Given the description of an element on the screen output the (x, y) to click on. 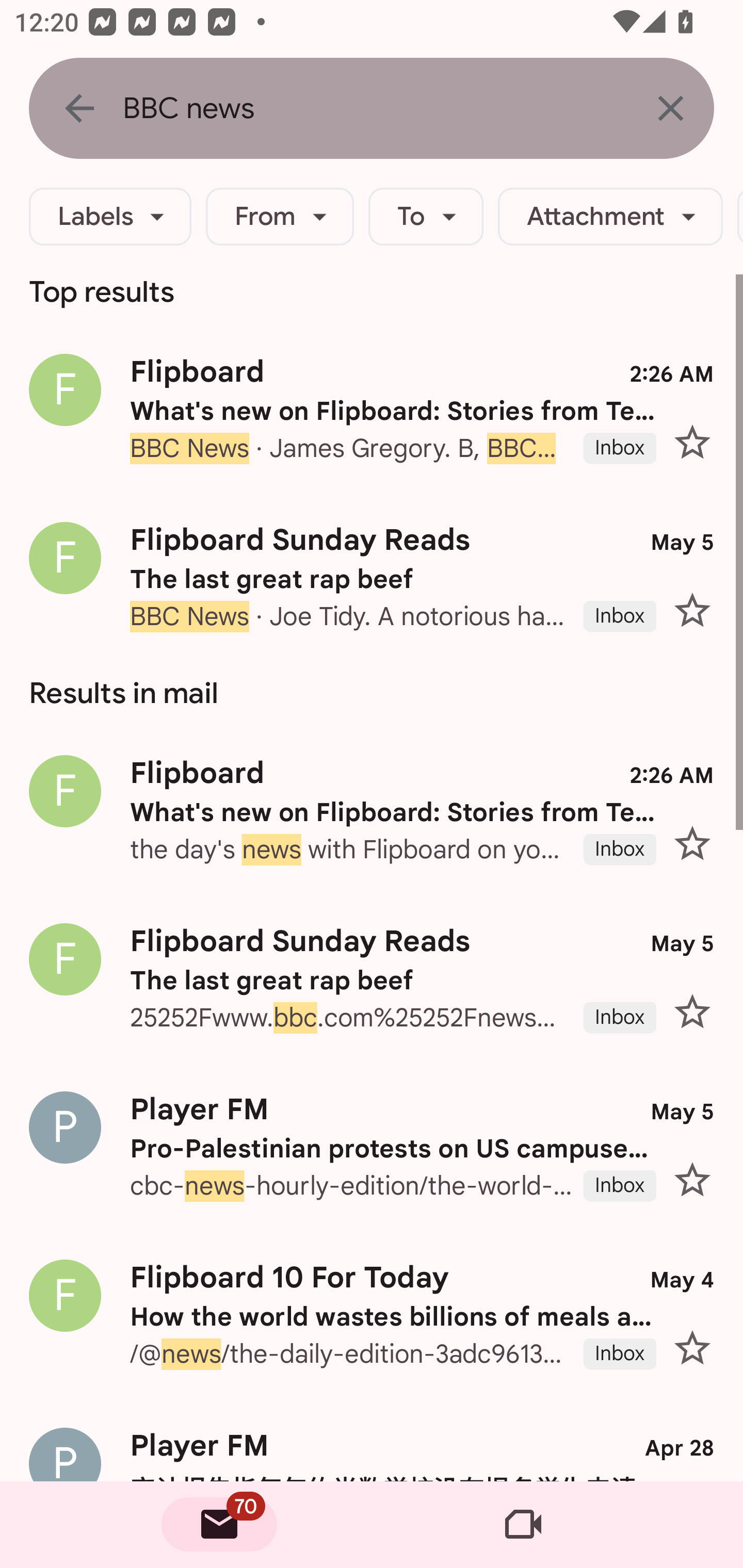
BBC news Navigate up BBC news Clear search text (371, 108)
Navigate up (79, 108)
Clear search text (670, 108)
Labels (109, 217)
From (279, 217)
To (425, 217)
Attachment (609, 217)
Meet (523, 1524)
